Given the description of an element on the screen output the (x, y) to click on. 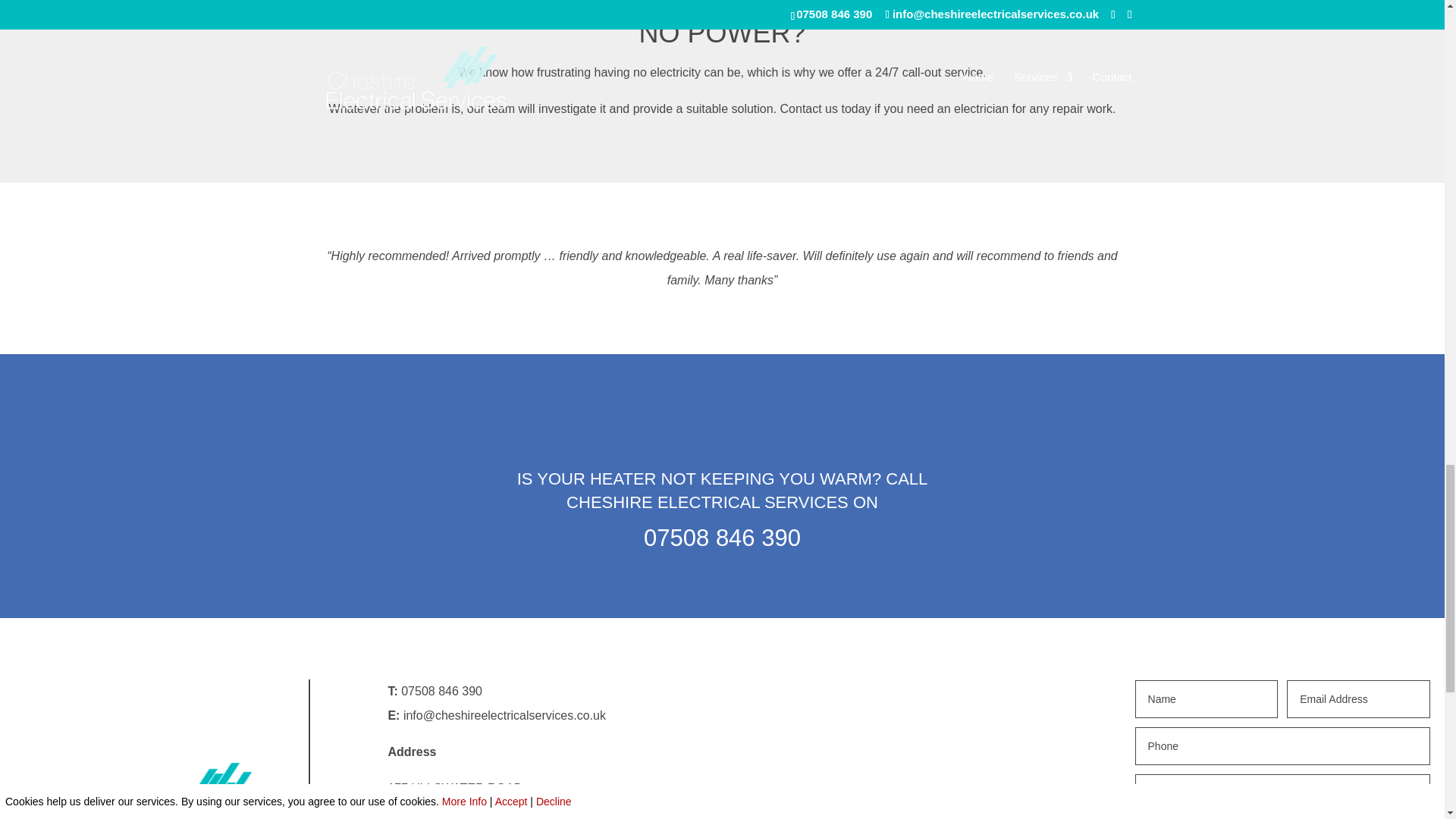
07508 846 390 (721, 537)
logo-500w (153, 790)
07508 846 390 (441, 690)
